Given the description of an element on the screen output the (x, y) to click on. 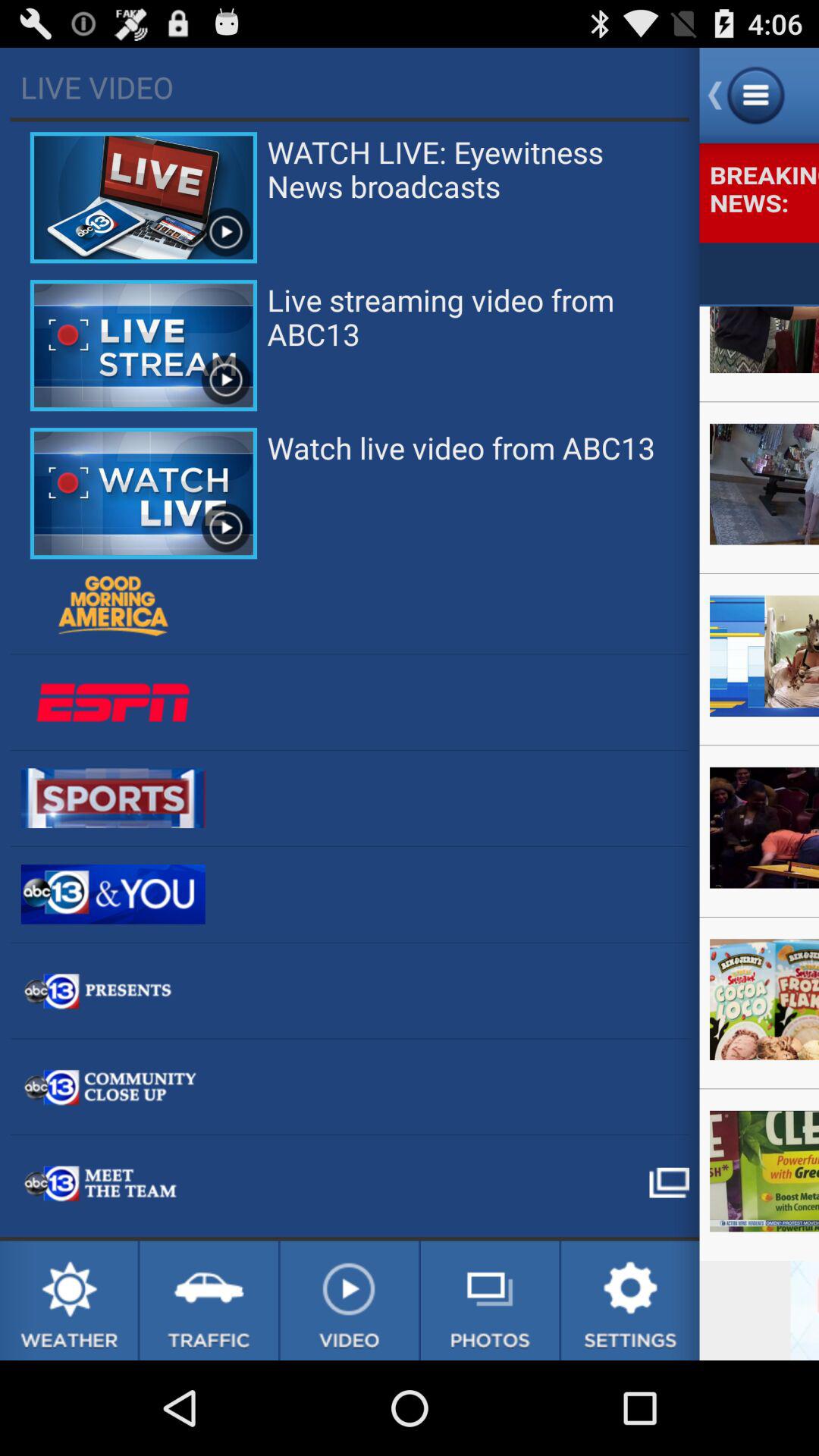
view news videos (349, 1300)
